Given the description of an element on the screen output the (x, y) to click on. 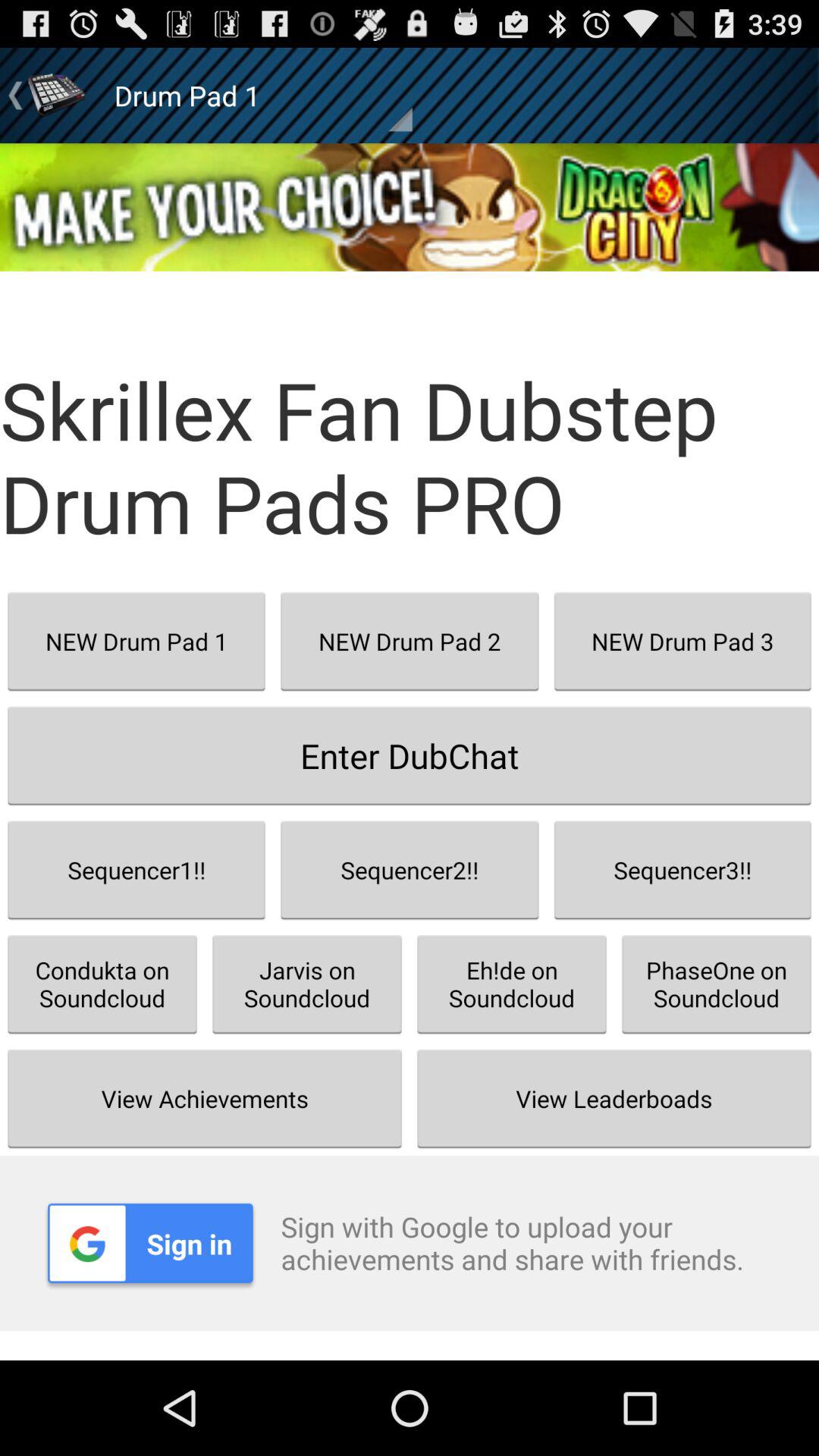
turn on button below the jarvis on soundcloud item (614, 1098)
